Given the description of an element on the screen output the (x, y) to click on. 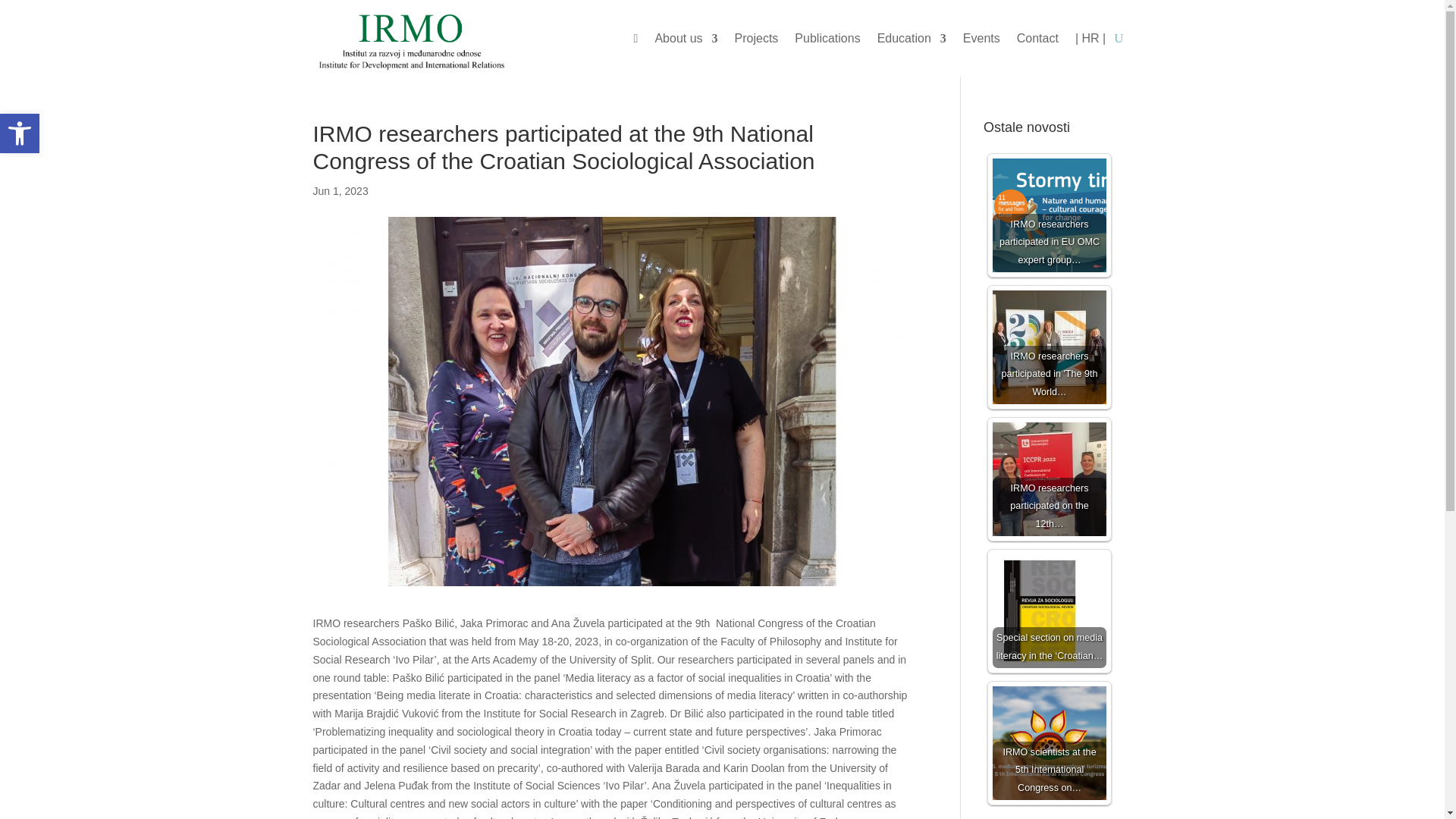
Events (981, 41)
Projects (756, 41)
Publications (827, 41)
Contact (1037, 41)
Education (911, 41)
